Given the description of an element on the screen output the (x, y) to click on. 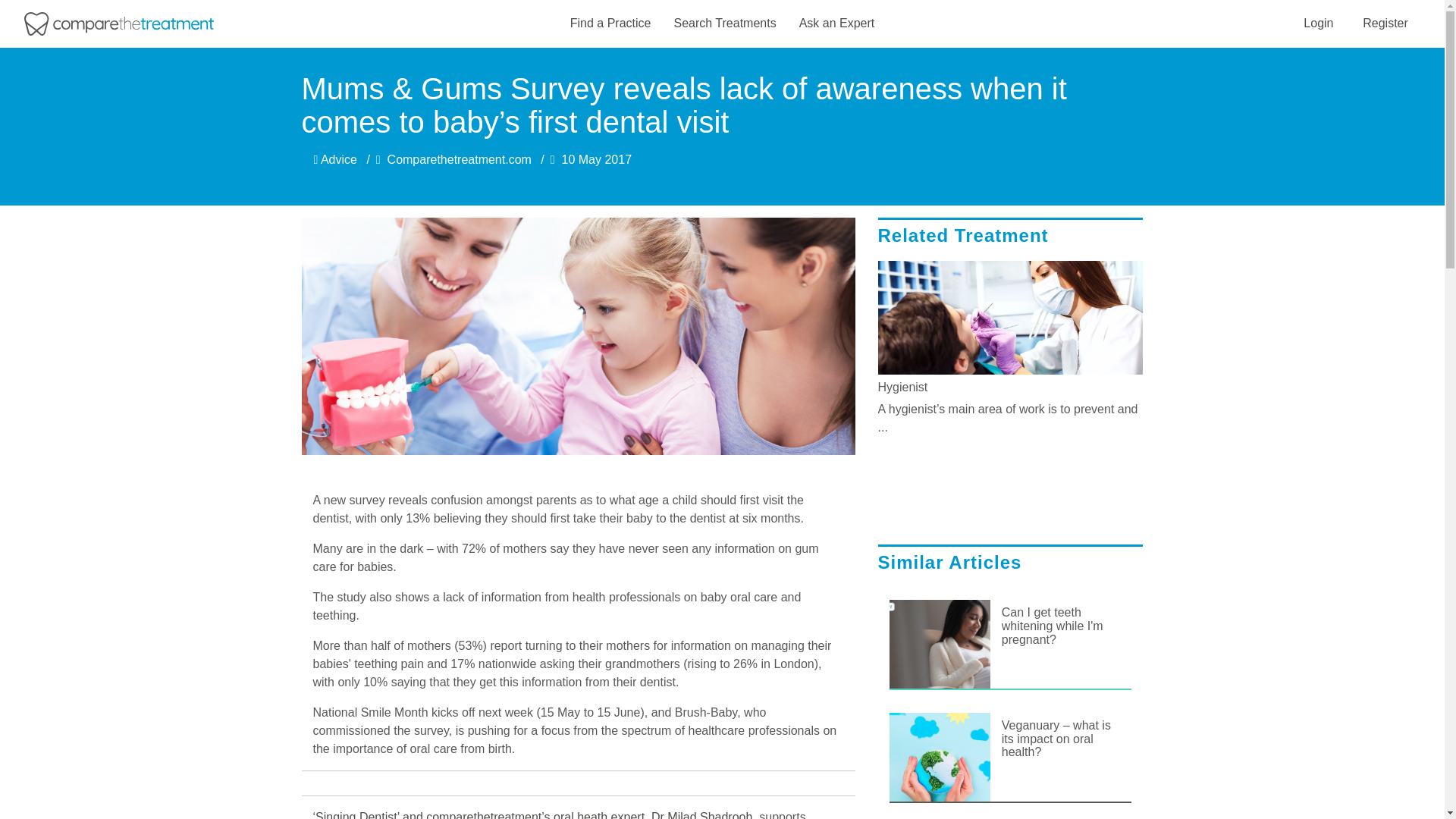
 Advice (335, 159)
Find a Practice (610, 23)
Ask an Expert (837, 23)
Can I get teeth whitening while I'm pregnant? (1061, 625)
Register (1386, 23)
Hygienist (1009, 387)
Search Treatments (724, 23)
Login (1318, 23)
